Given the description of an element on the screen output the (x, y) to click on. 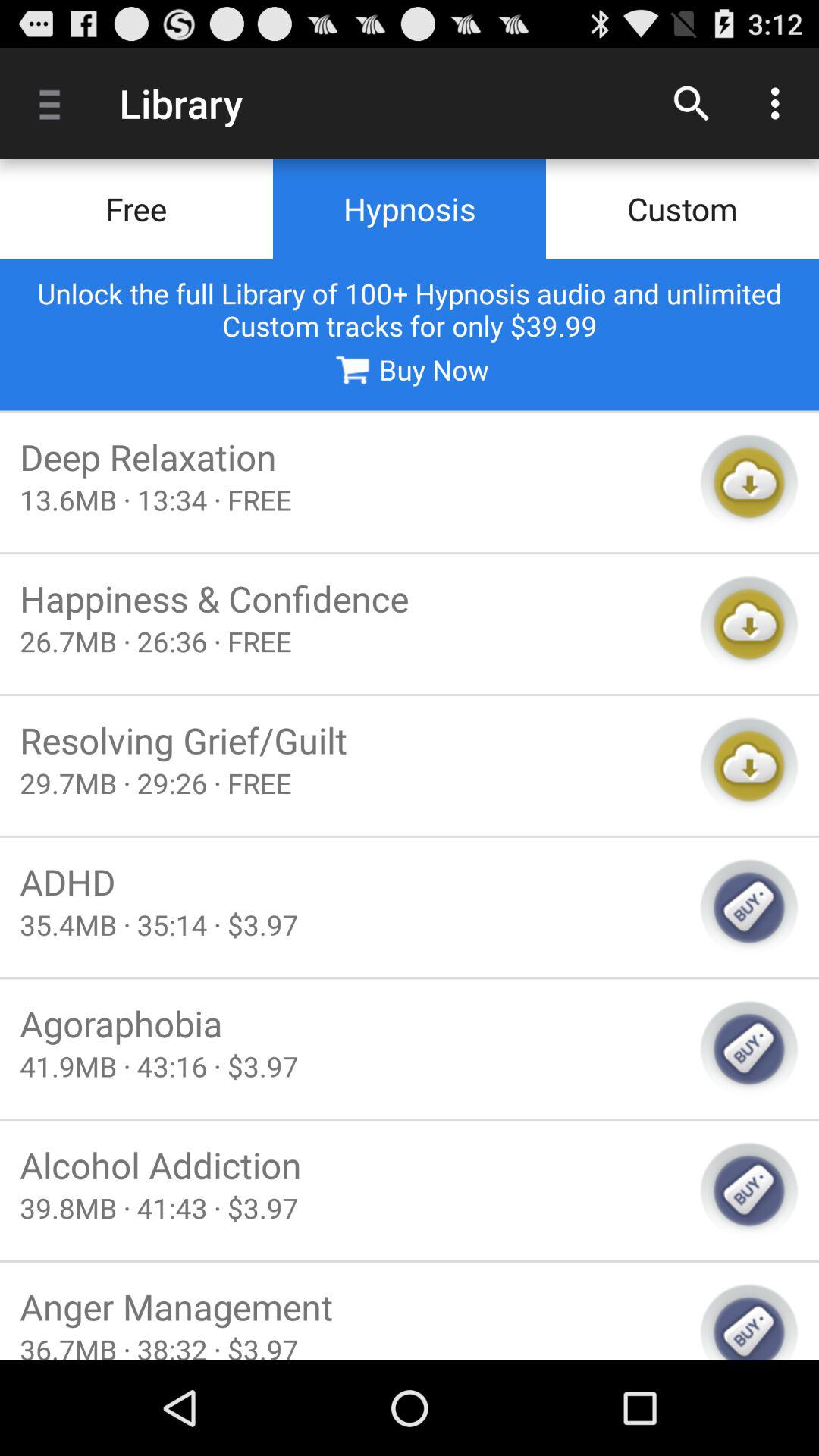
click happiness & confidence icon (349, 598)
